Given the description of an element on the screen output the (x, y) to click on. 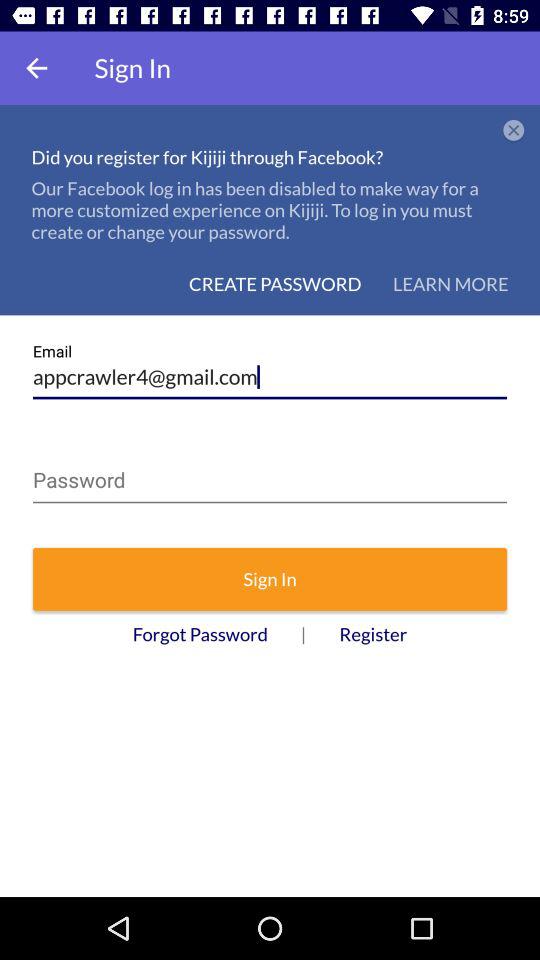
tap icon below learn more (270, 370)
